Given the description of an element on the screen output the (x, y) to click on. 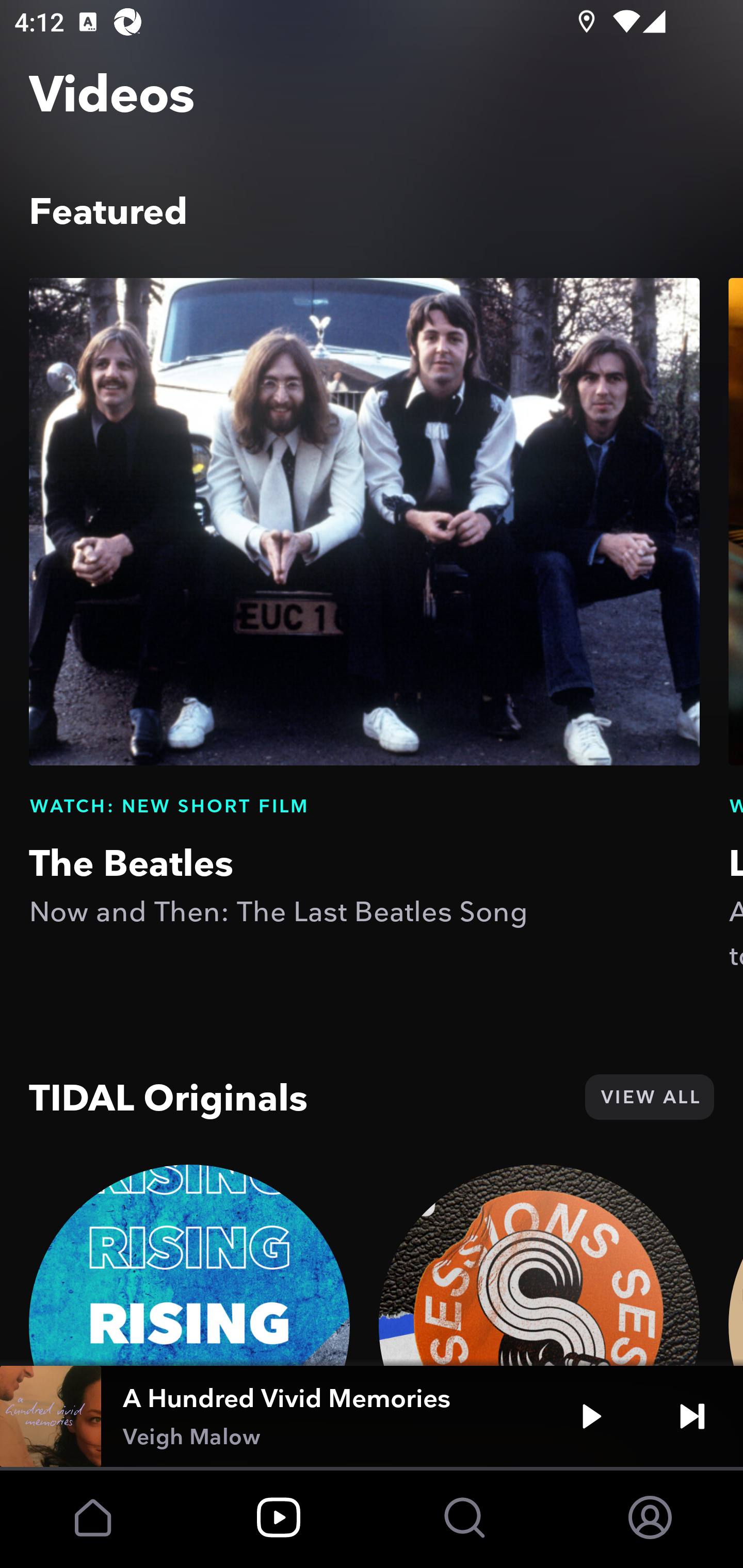
VIEW ALL (649, 1096)
A Hundred Vivid Memories Veigh Malow Play (371, 1416)
Play (590, 1416)
